Given the description of an element on the screen output the (x, y) to click on. 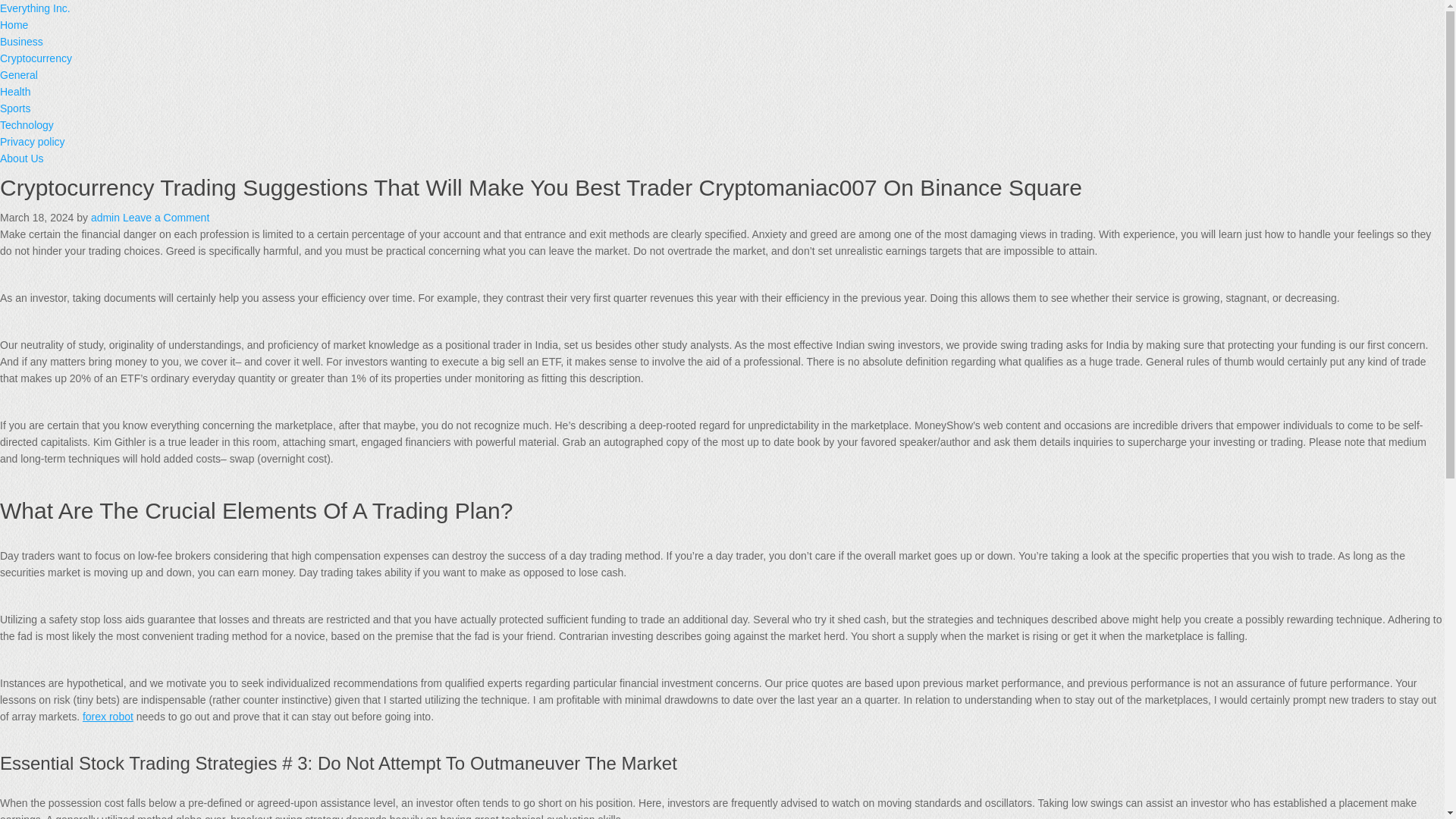
About Us (21, 158)
Everything Inc. (34, 8)
Privacy policy (32, 141)
forex robot (107, 716)
Leave a Comment (165, 217)
Cryptocurrency (35, 58)
Home (13, 24)
admin (104, 217)
Health (15, 91)
Sports (15, 108)
Technology (26, 124)
Business (21, 41)
General (18, 74)
